Given the description of an element on the screen output the (x, y) to click on. 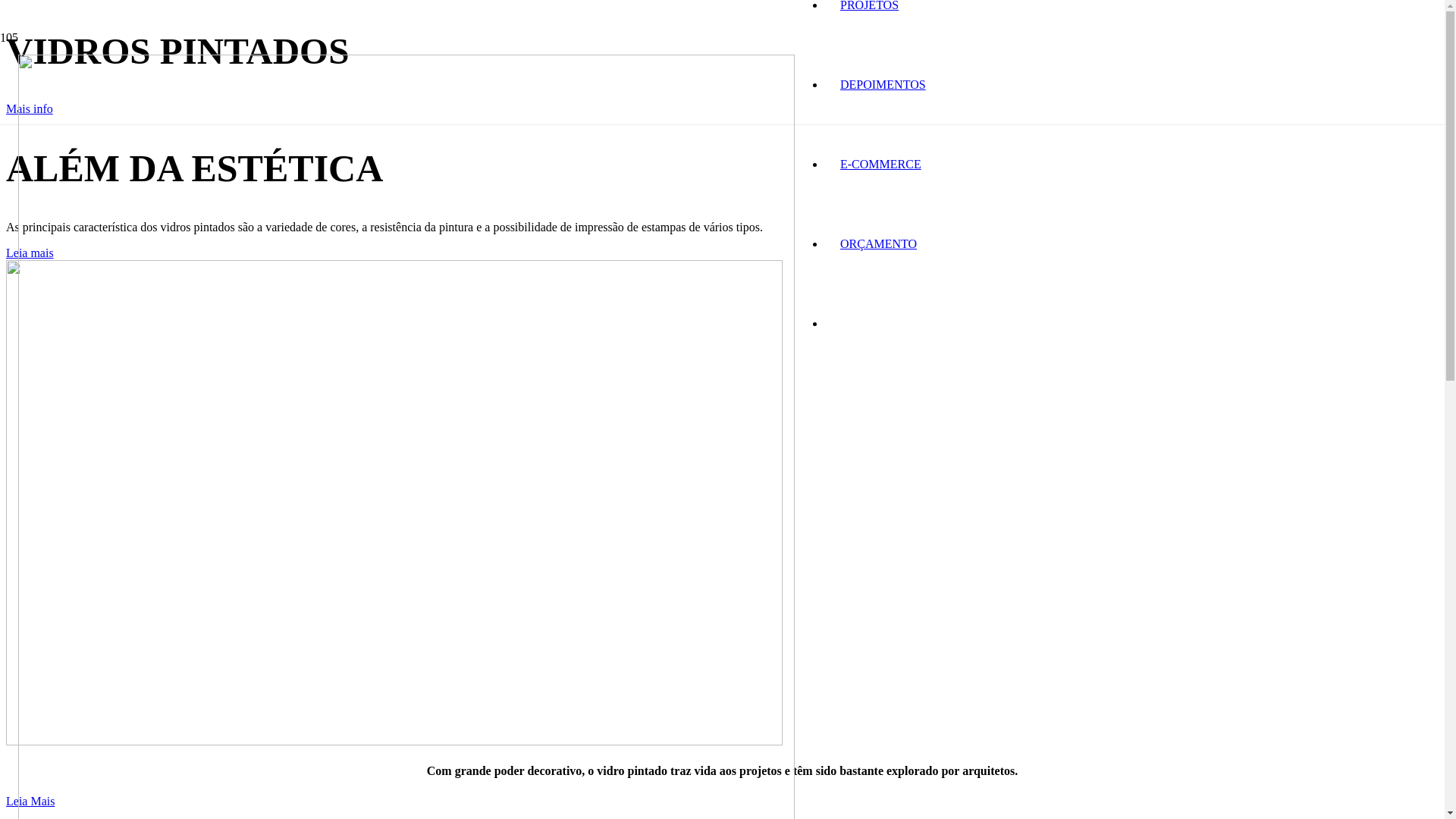
DEPOIMENTOS Element type: text (883, 84)
Mais info Element type: text (29, 108)
Leia mais Element type: text (29, 252)
E-COMMERCE Element type: text (880, 163)
Leia Mais Element type: text (30, 800)
